Given the description of an element on the screen output the (x, y) to click on. 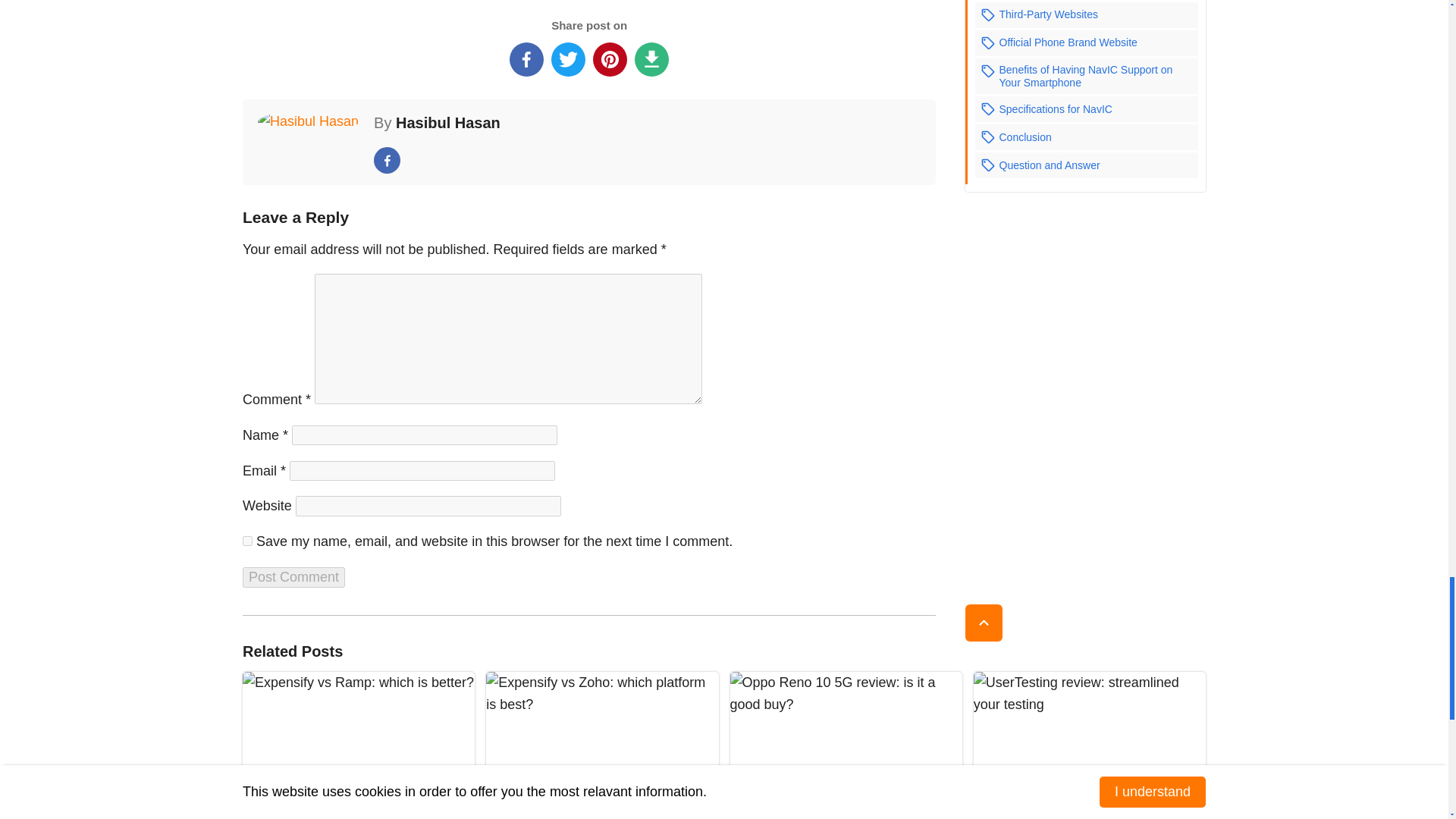
yes (247, 541)
Post Comment (294, 577)
Share on Facebook (526, 59)
Post Comment (294, 577)
Download as PDF (651, 59)
Permanent Link to Expensify vs Zoho: which platform is best? (601, 745)
Share on Pinterest (609, 59)
Share on Twitter (568, 59)
Hasibul Hasan (448, 122)
Permanent Link to Expensify vs Ramp: which is better? (358, 745)
Permanent Link to Oppo Reno 10 5G review: is it a good buy? (844, 745)
